Given the description of an element on the screen output the (x, y) to click on. 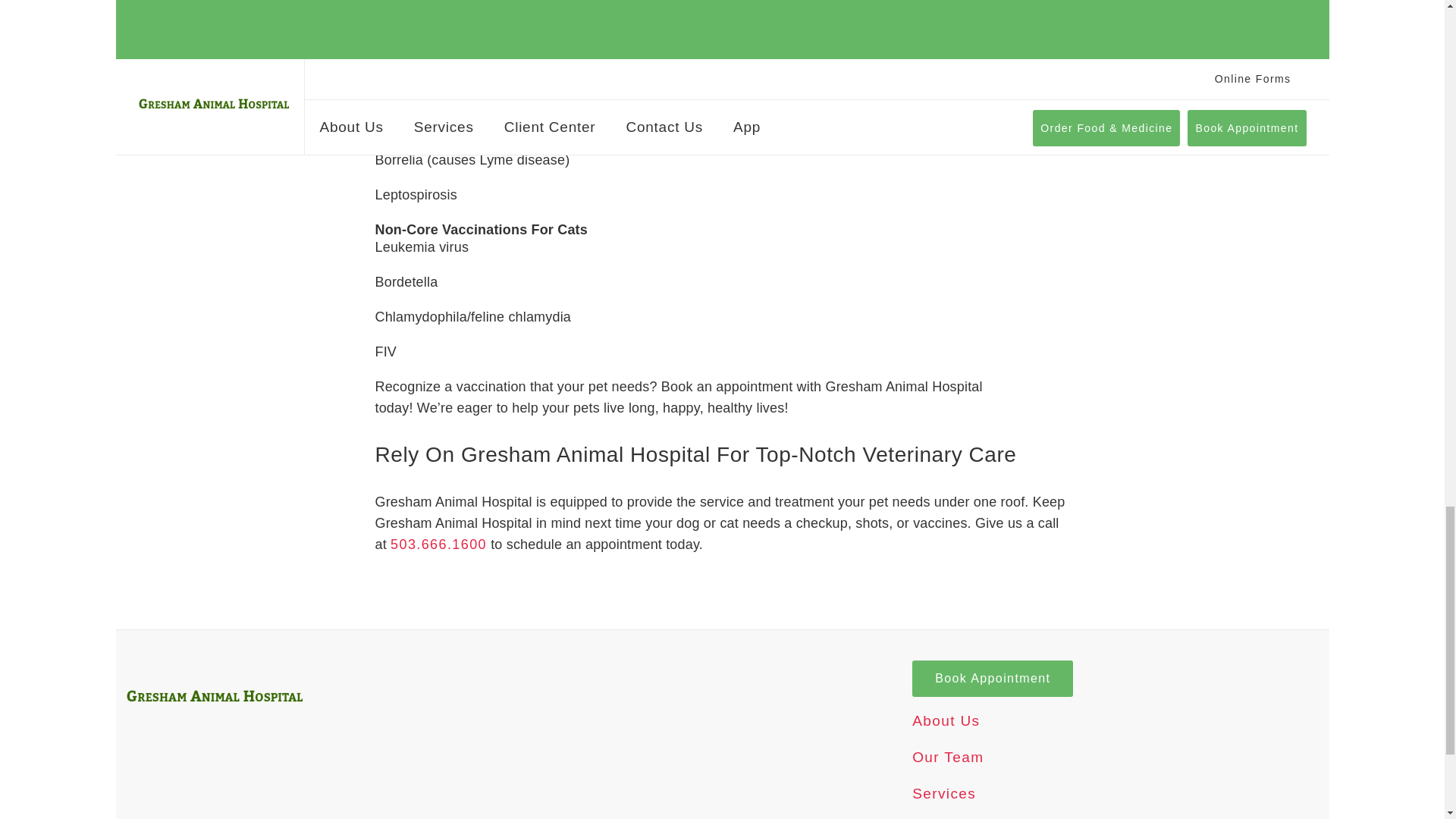
503.666.1600 (438, 574)
Book Appointment (992, 709)
Our Team (948, 787)
Services (943, 818)
About Us (945, 751)
